Given the description of an element on the screen output the (x, y) to click on. 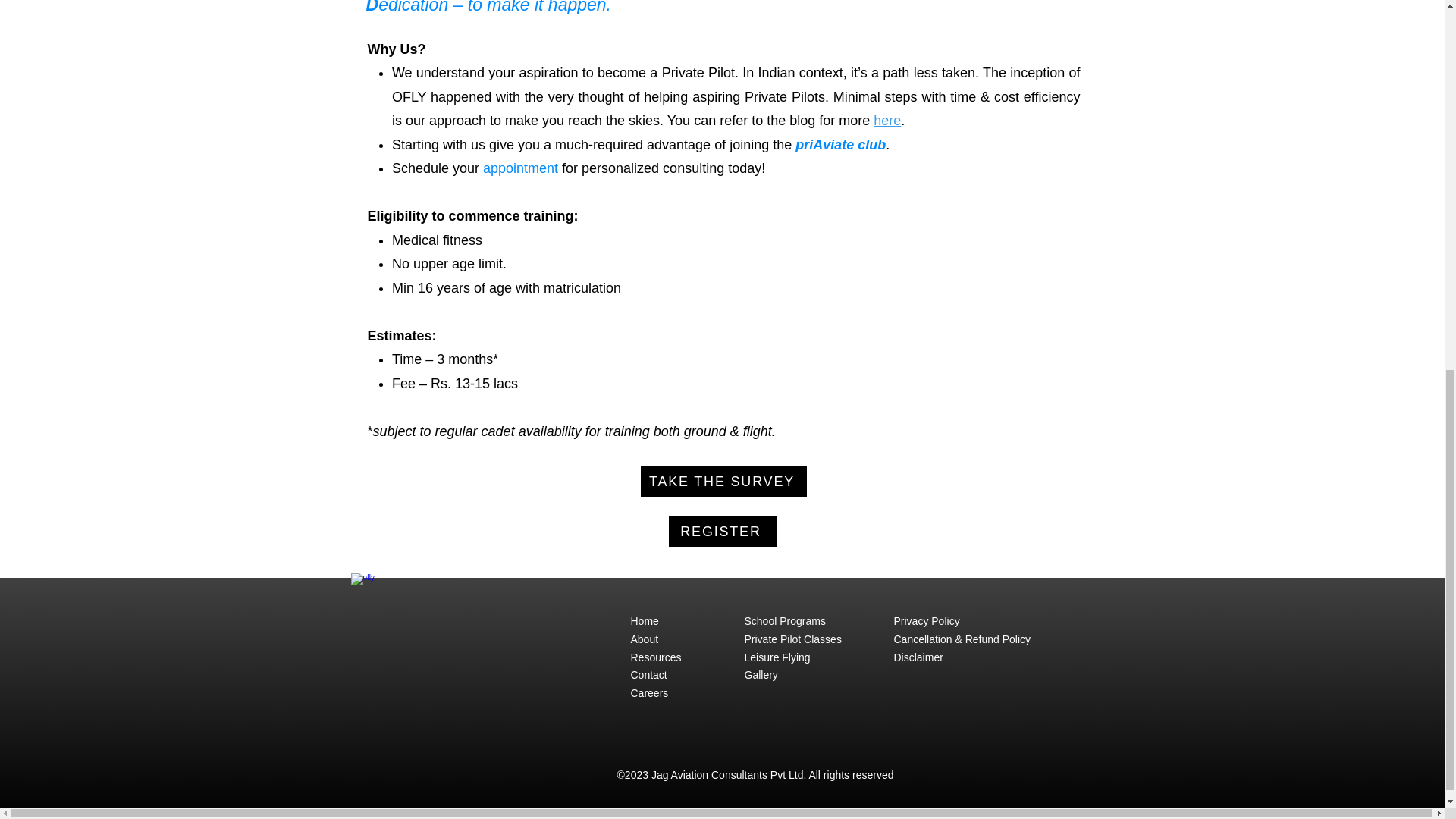
About (644, 639)
Careers (649, 693)
Gallery (760, 674)
Resources (655, 657)
Private Pilot Classes (792, 639)
Disclaimer (917, 657)
REGISTER (722, 531)
Leisure Flying (777, 657)
Home (644, 621)
here (887, 120)
School Programs (784, 621)
TAKE THE SURVEY (723, 481)
appointment (520, 168)
Privacy Policy (926, 621)
priAviate club (839, 144)
